Given the description of an element on the screen output the (x, y) to click on. 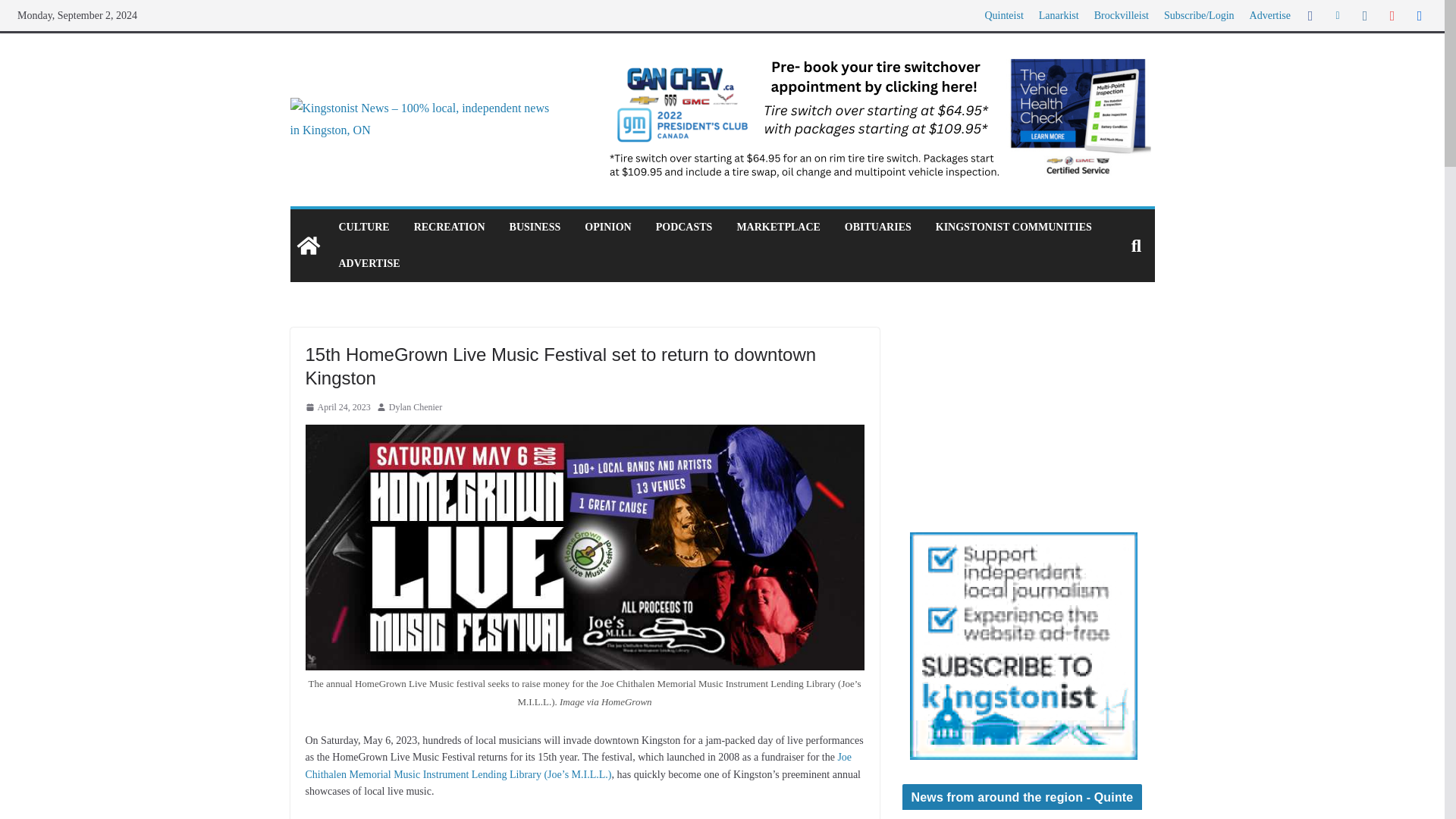
PODCASTS (684, 227)
ADVERTISE (367, 263)
OPINION (607, 227)
MARKETPLACE (777, 227)
Dylan Chenier (415, 407)
5:34 pm (336, 407)
RECREATION (448, 227)
Dylan Chenier (415, 407)
BUSINESS (534, 227)
April 24, 2023 (336, 407)
